Given the description of an element on the screen output the (x, y) to click on. 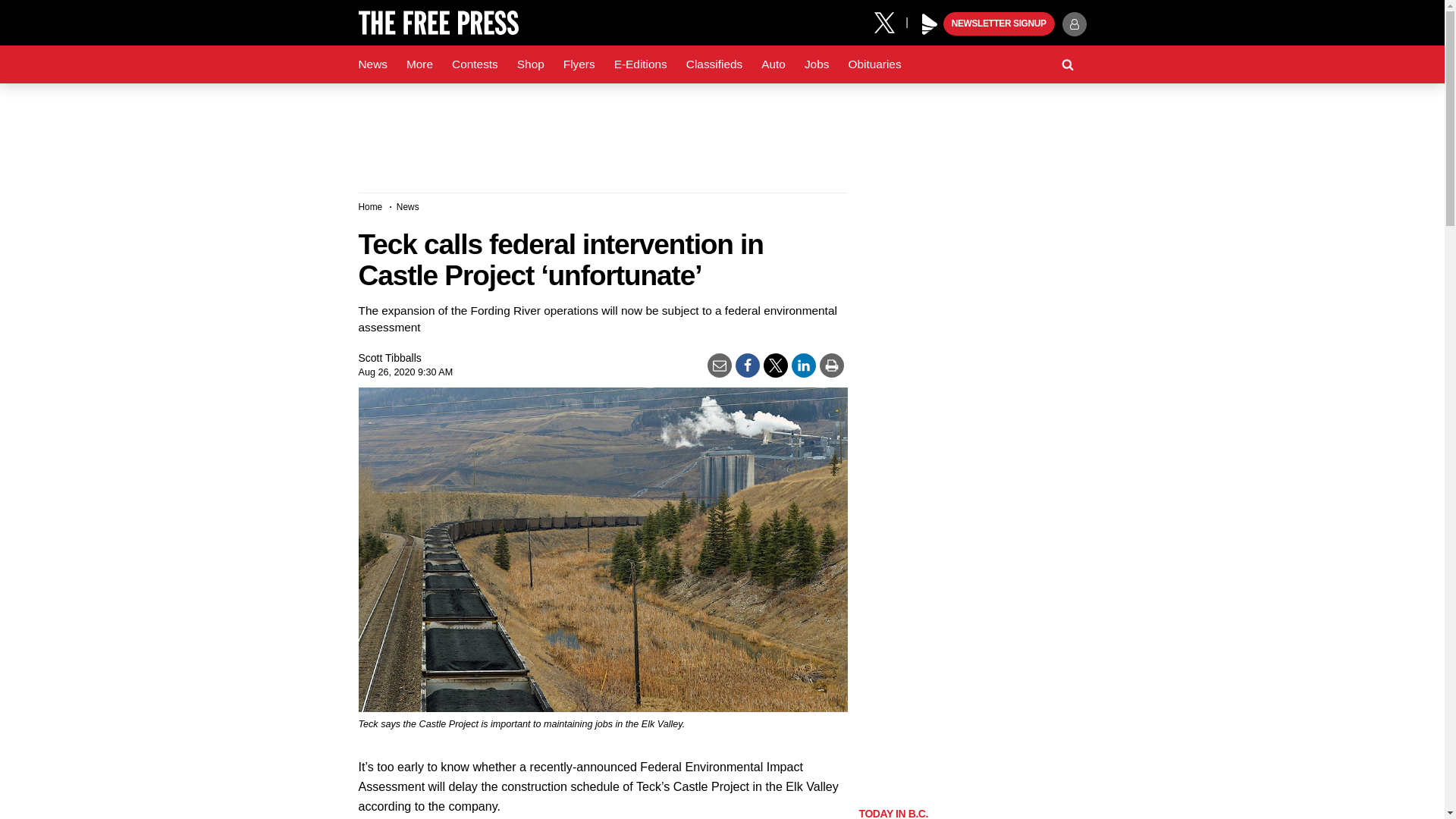
NEWSLETTER SIGNUP (998, 24)
Play (929, 24)
News (372, 64)
Black Press Media (929, 24)
X (889, 21)
